Given the description of an element on the screen output the (x, y) to click on. 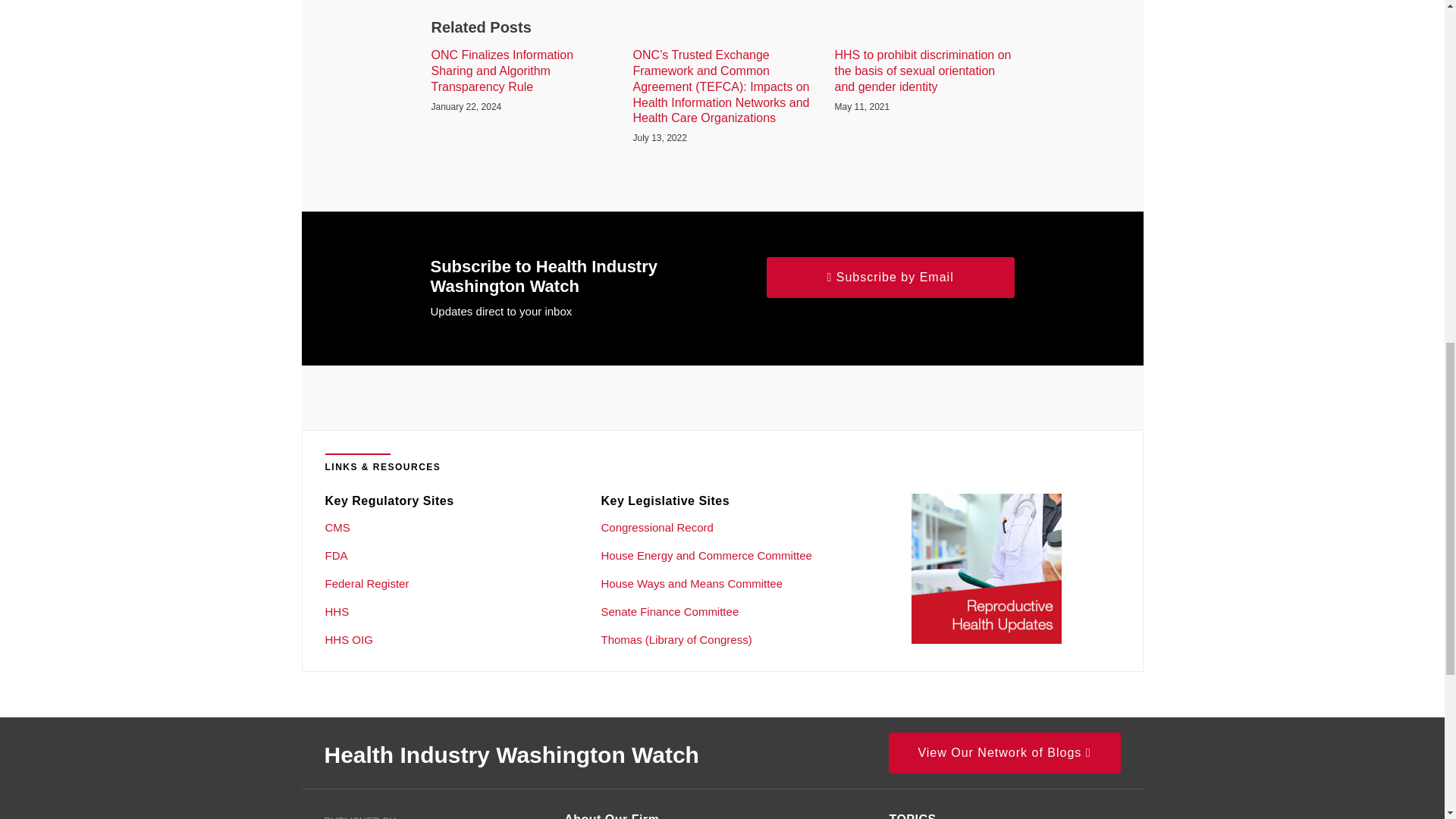
HHS (336, 611)
House Energy and Commerce Committee (704, 554)
Federal Register (366, 583)
Subscribe by Email (890, 277)
HHS OIG (348, 639)
CMS (336, 526)
Senate Finance Committee (668, 611)
House Ways and Means Committee (691, 583)
FDA (335, 554)
Congressional Record (656, 526)
